Given the description of an element on the screen output the (x, y) to click on. 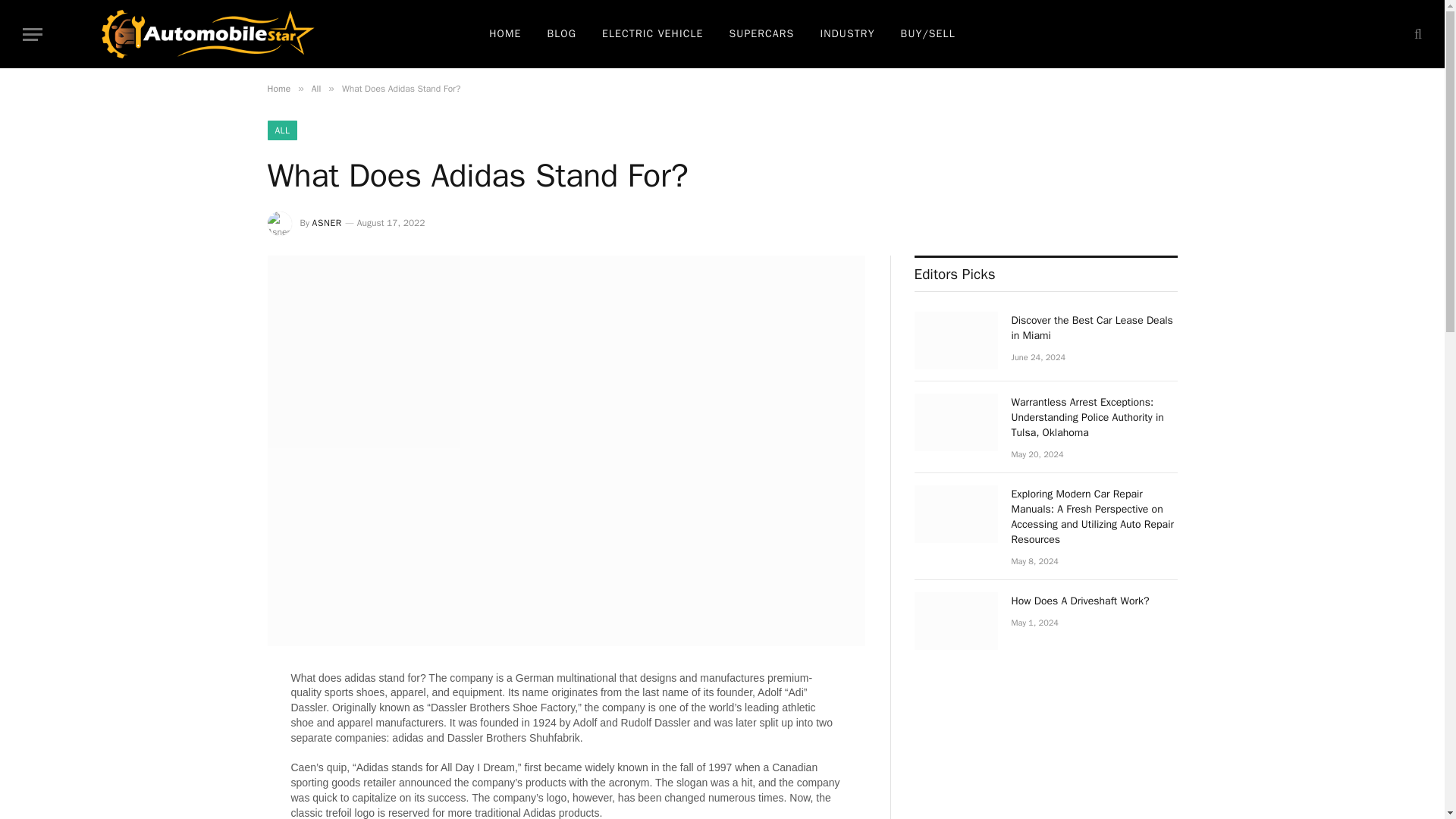
SUPERCARS (762, 33)
Automobilestar.net (207, 33)
INDUSTRY (846, 33)
Discover the Best Car Lease Deals in Miami (1094, 327)
Home (277, 88)
ELECTRIC VEHICLE (652, 33)
ASNER (327, 223)
Posts by Asner (327, 223)
ALL (281, 130)
